Given the description of an element on the screen output the (x, y) to click on. 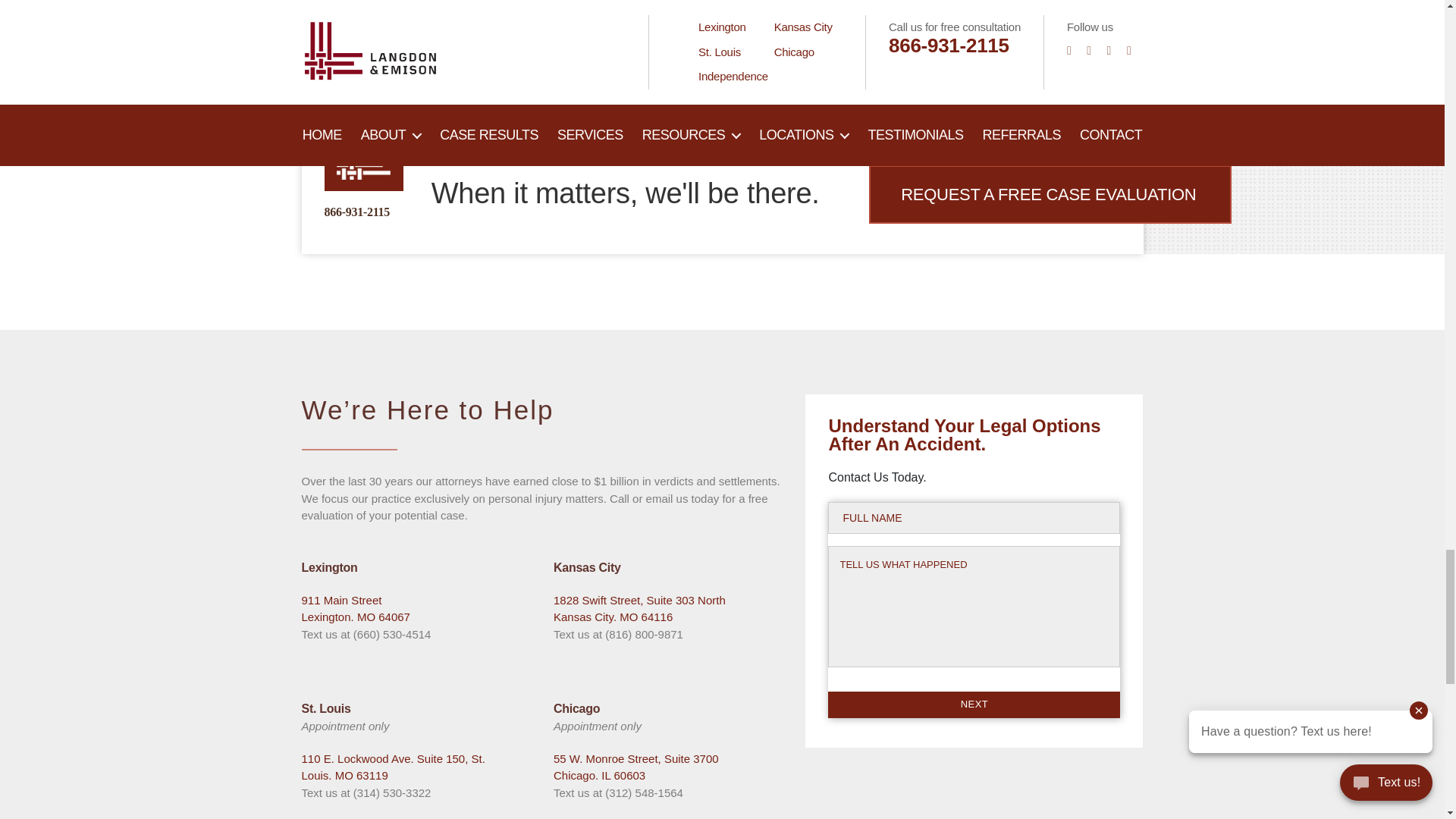
Next (973, 704)
